Given the description of an element on the screen output the (x, y) to click on. 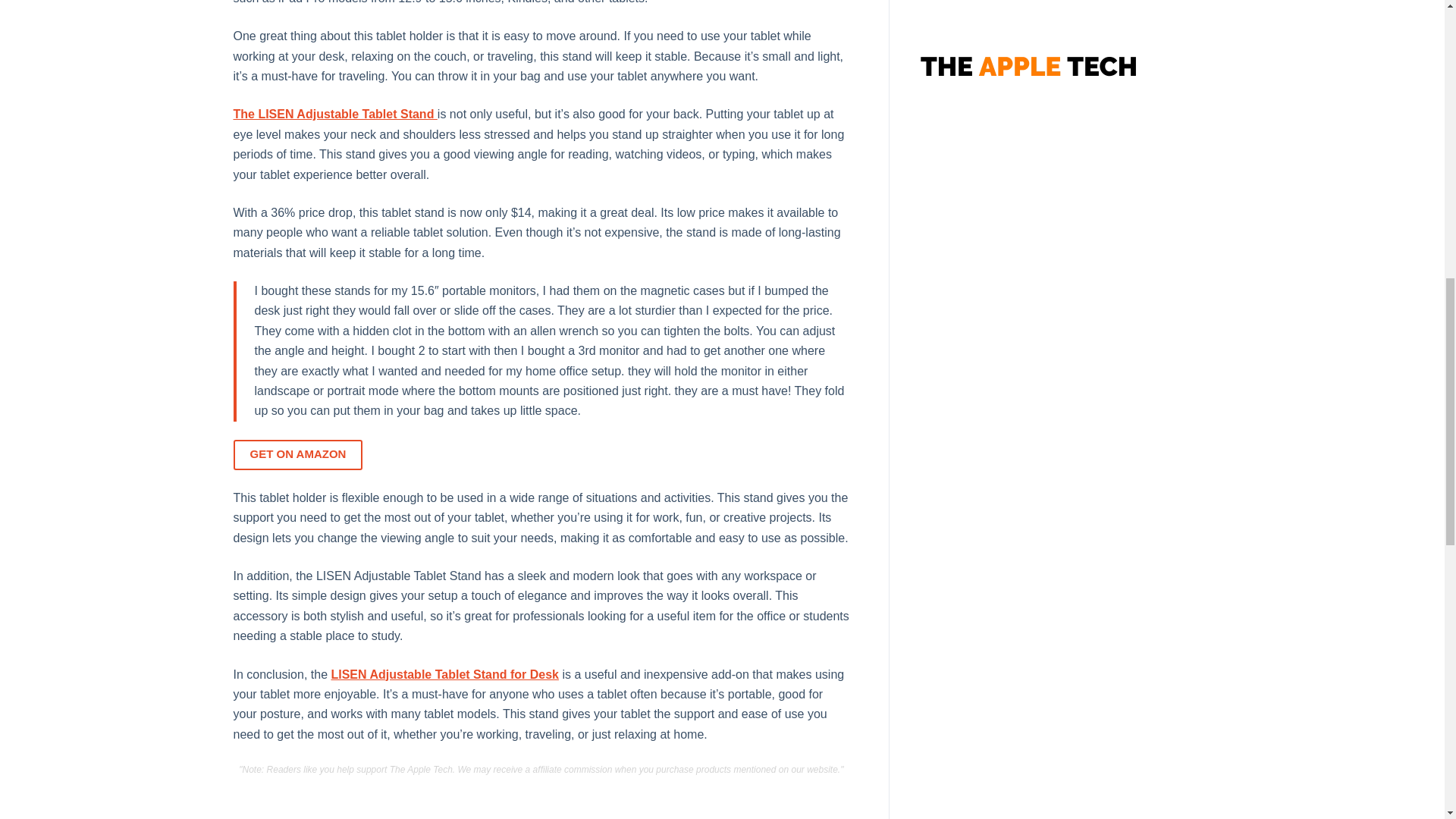
The LISEN Adjustable Tablet Stand (335, 113)
GET ON AMAZON (297, 454)
LISEN Adjustable Tablet Stand for Desk (444, 674)
